Given the description of an element on the screen output the (x, y) to click on. 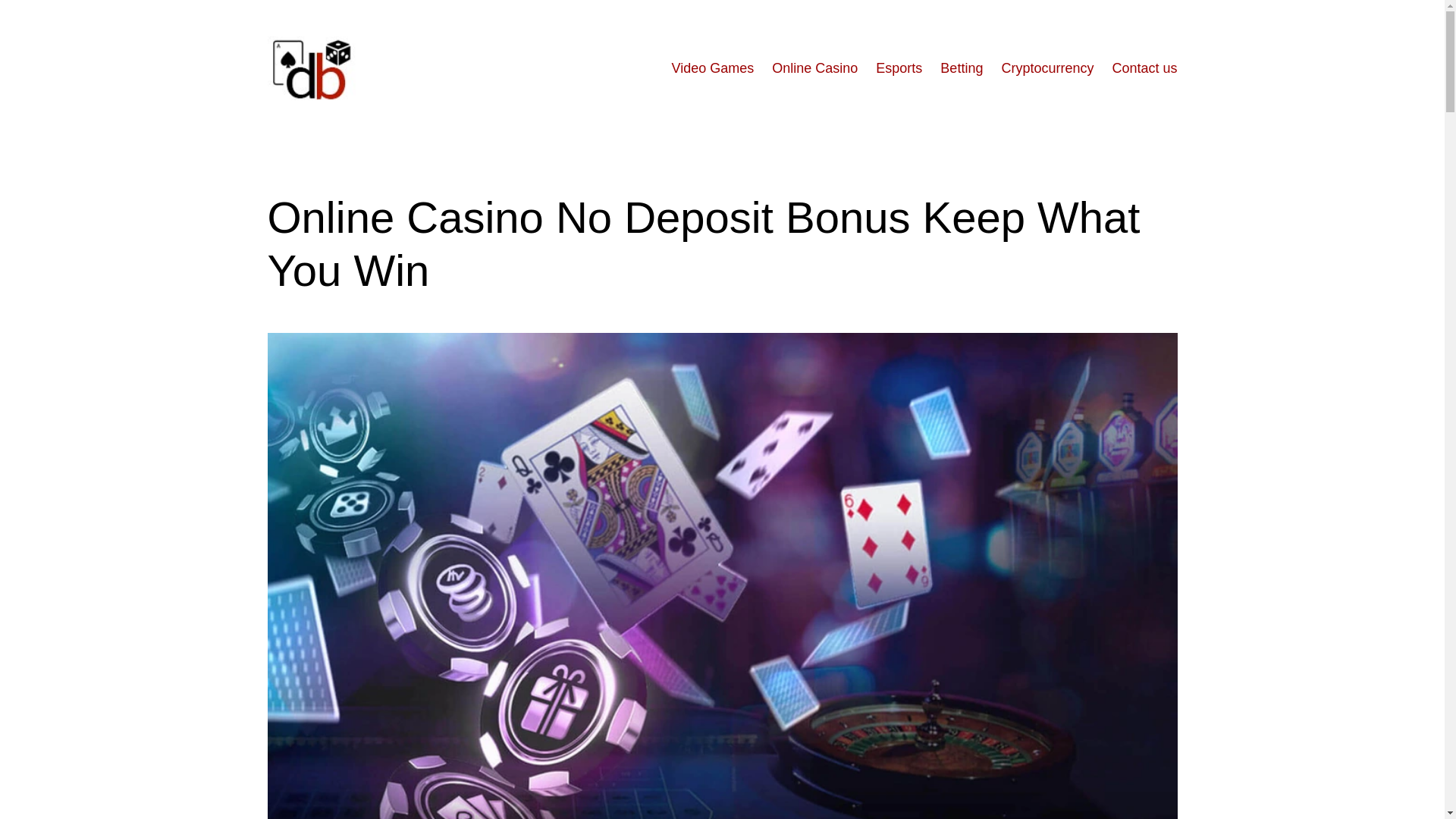
Contact us (1144, 68)
Video Games (712, 68)
Online Casino (814, 68)
Esports (898, 68)
Cryptocurrency (1047, 68)
Betting (961, 68)
